Given the description of an element on the screen output the (x, y) to click on. 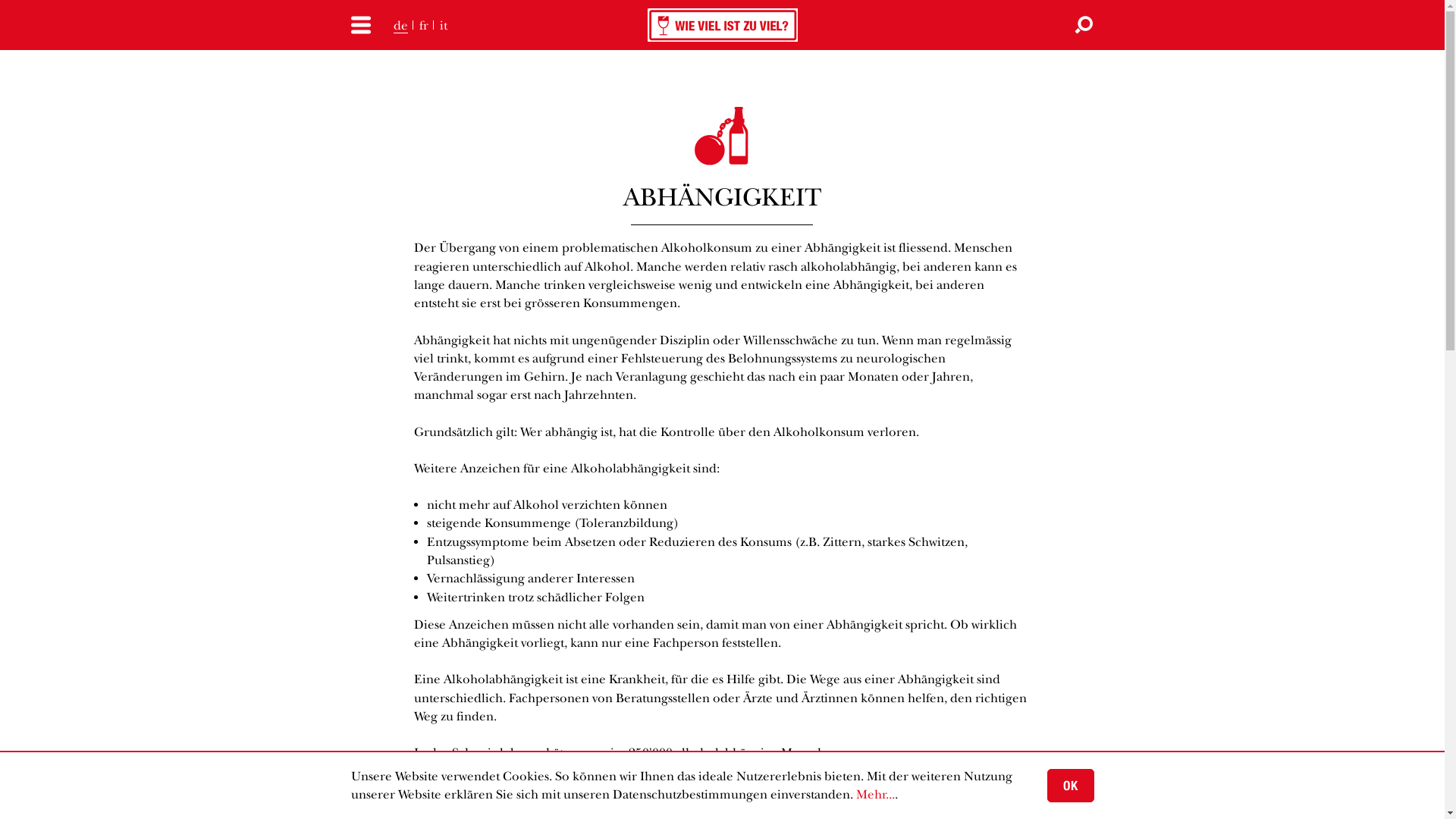
fr Element type: text (417, 25)
it Element type: text (436, 25)
de Element type: text (399, 25)
Willkommen! Element type: hover (722, 24)
Mehr... Element type: text (874, 794)
